Given the description of an element on the screen output the (x, y) to click on. 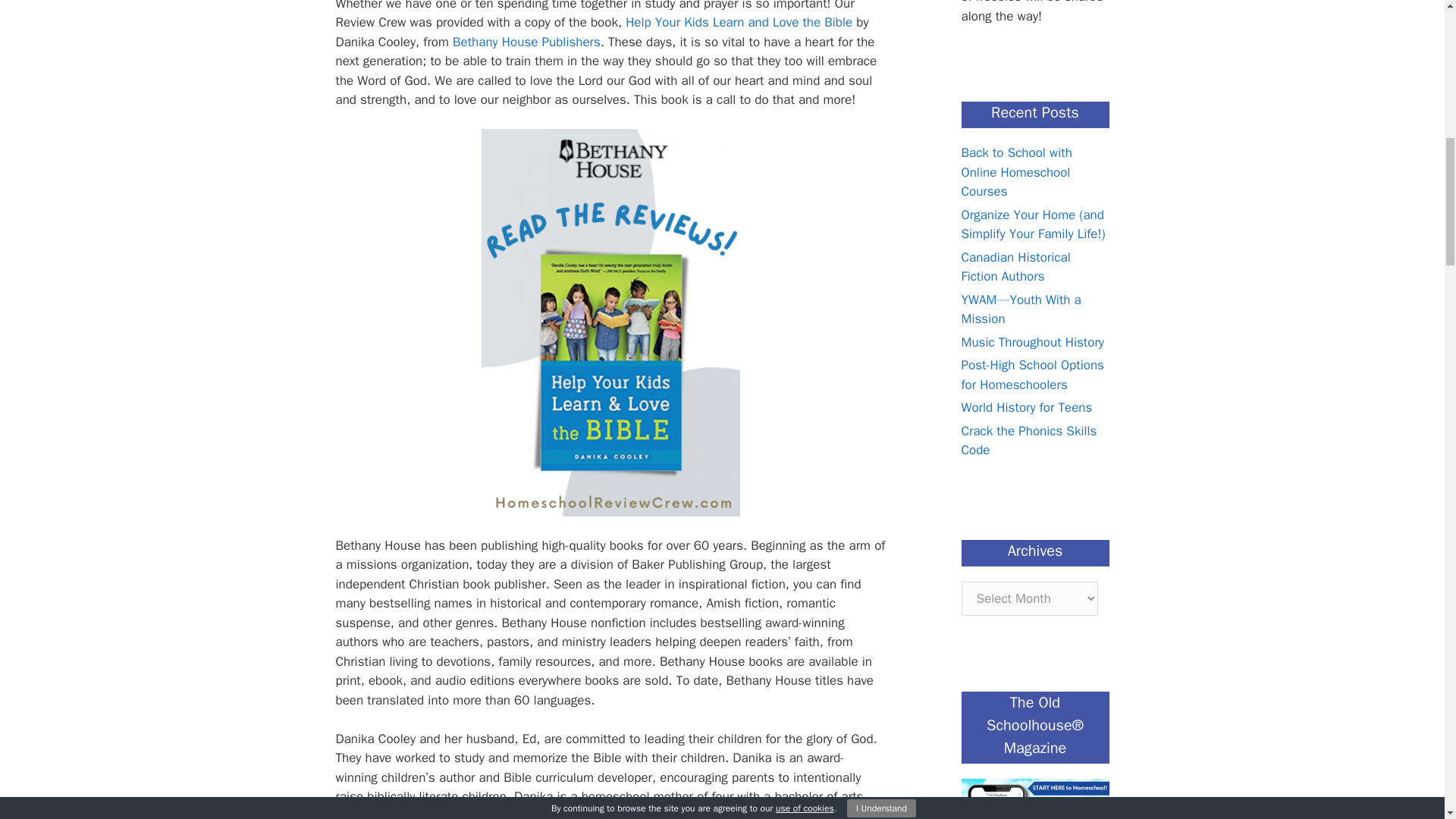
Bethany House Publishers (525, 41)
Help Your Kids Learn and Love the Bible (738, 22)
